Given the description of an element on the screen output the (x, y) to click on. 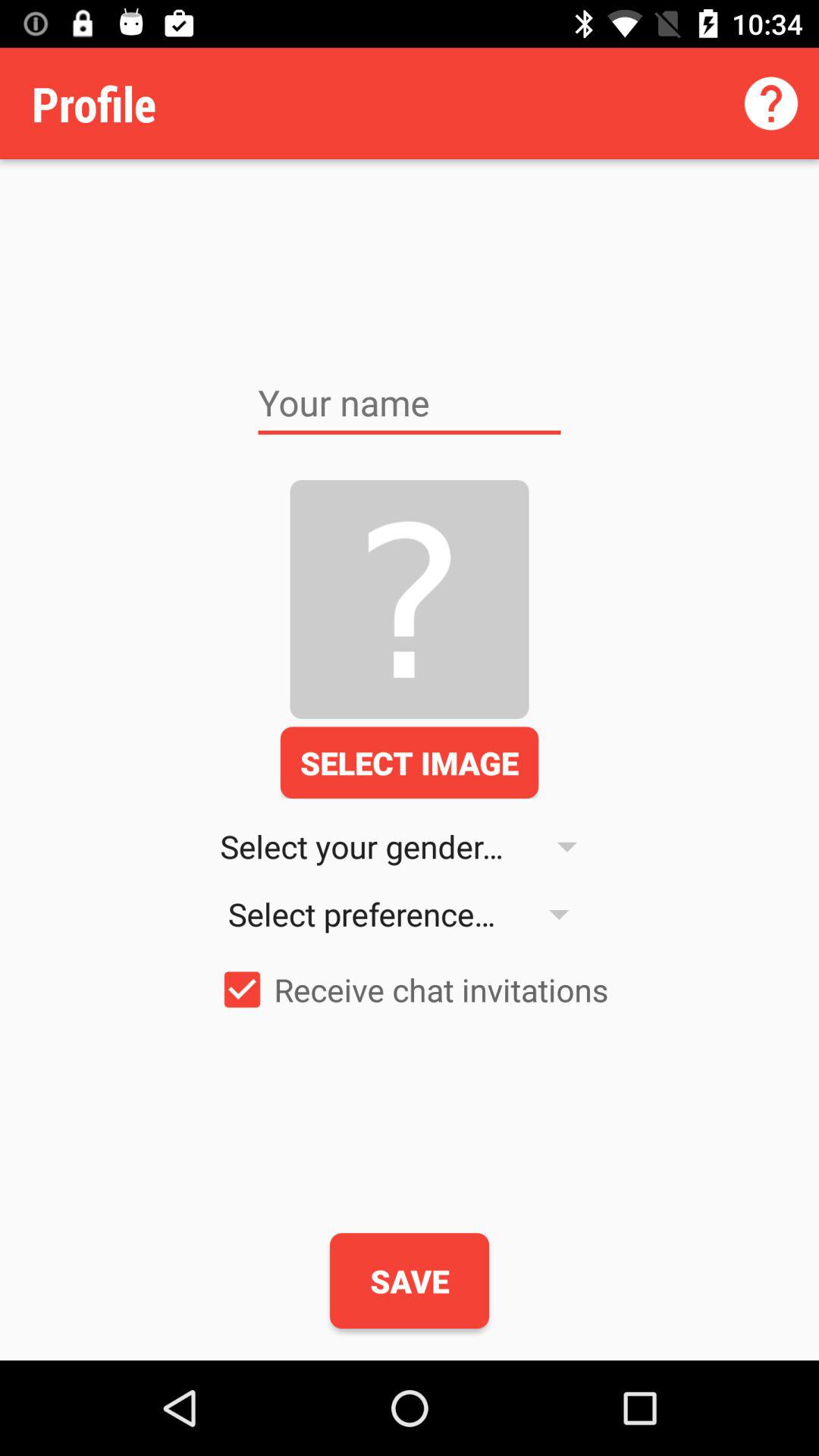
flip until select image item (409, 762)
